Given the description of an element on the screen output the (x, y) to click on. 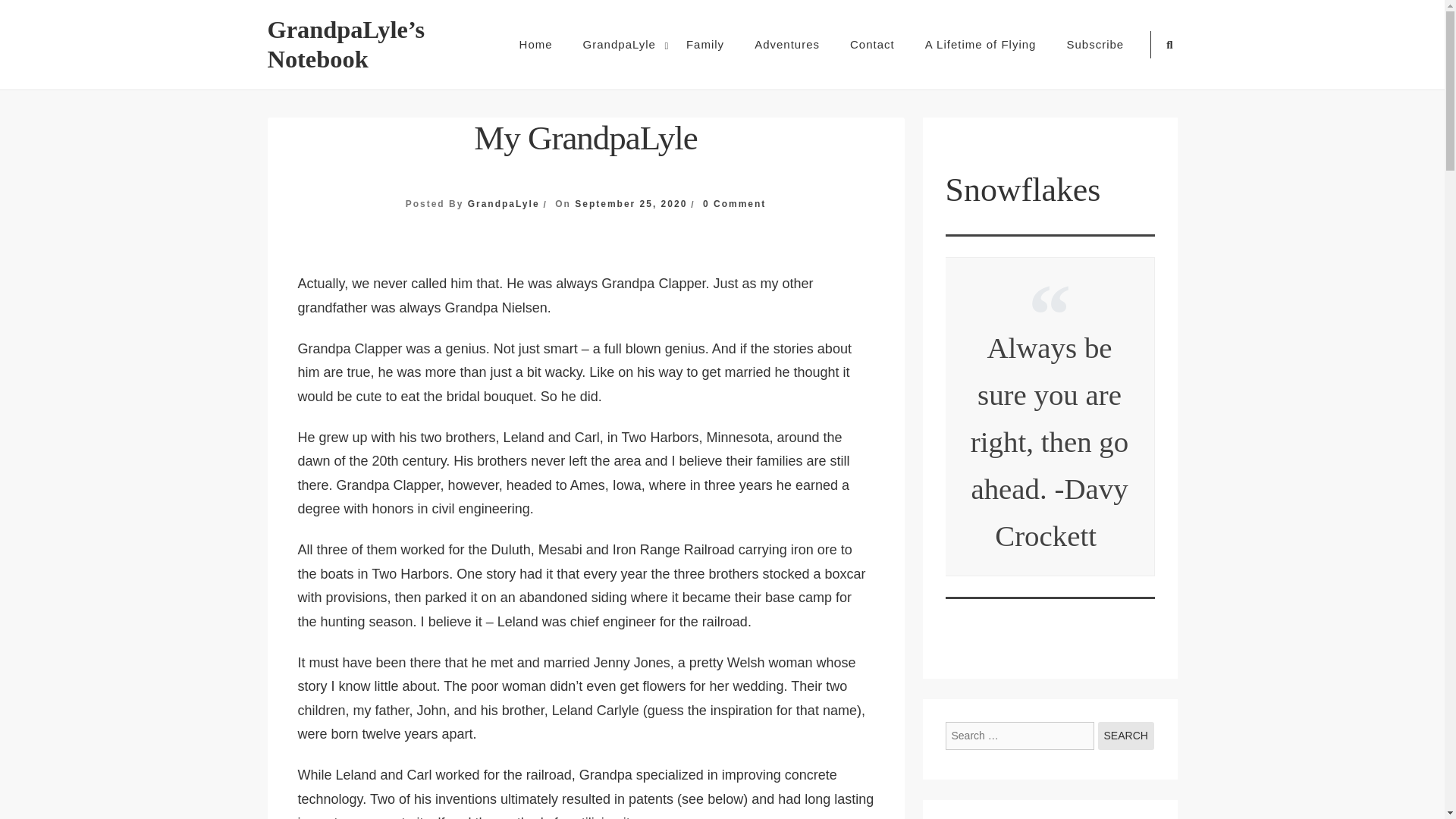
GrandpaLyle (619, 44)
Adventures (786, 44)
Subscribe (1094, 44)
September 25, 2020 (631, 204)
GrandpaLyle (503, 204)
Search (752, 429)
A Lifetime of Flying (980, 44)
Family (705, 44)
Search (734, 204)
Search (1125, 735)
Home (1125, 735)
Search (535, 44)
Contact (1125, 735)
